Given the description of an element on the screen output the (x, y) to click on. 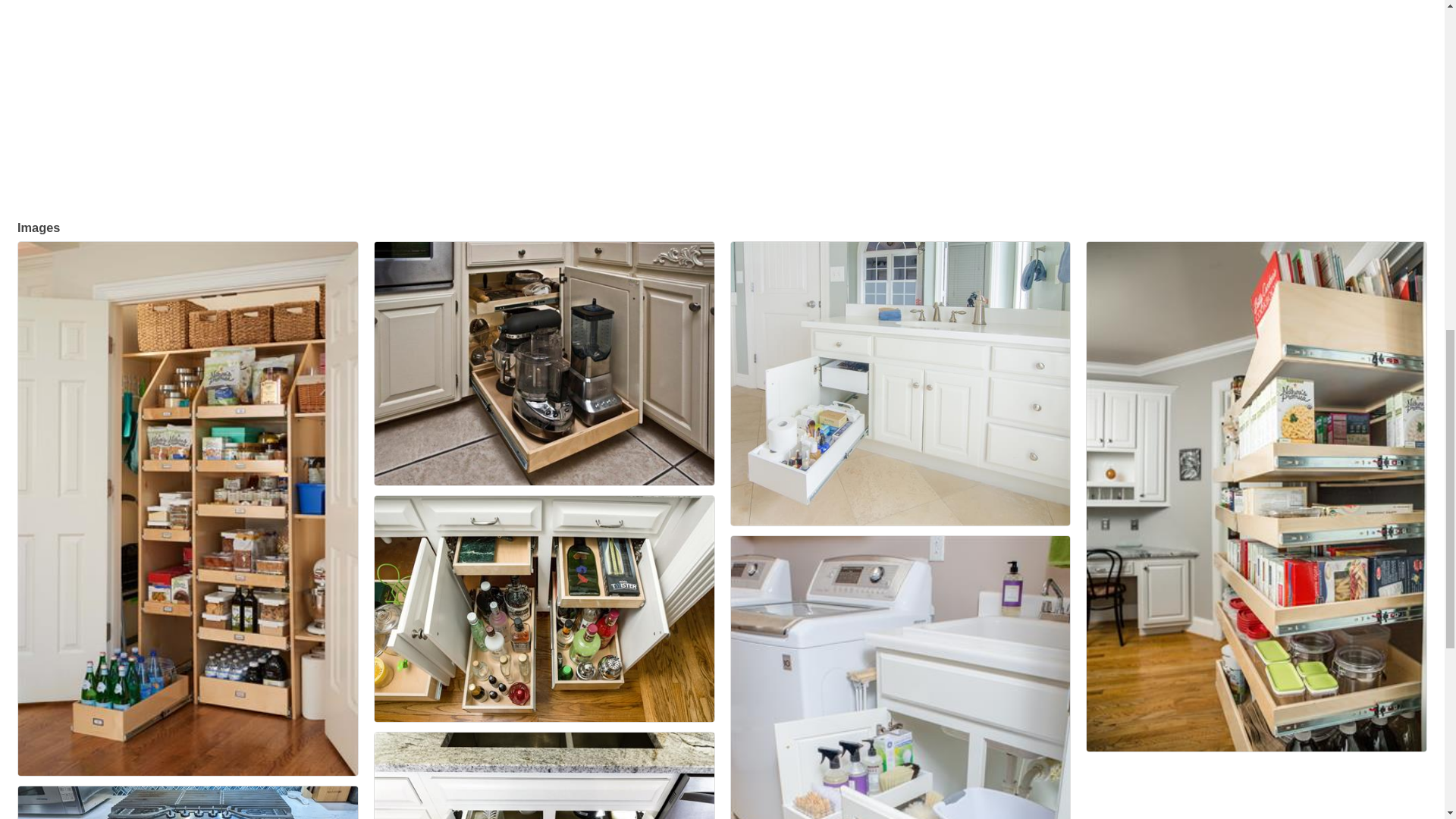
Under Sink Cabinets (544, 775)
Bars and Wine Rooms (544, 608)
Laundry Room (900, 677)
Kitchen Cabinets (187, 802)
Bathroom (900, 383)
Blind Corner Cabinets (544, 363)
